Given the description of an element on the screen output the (x, y) to click on. 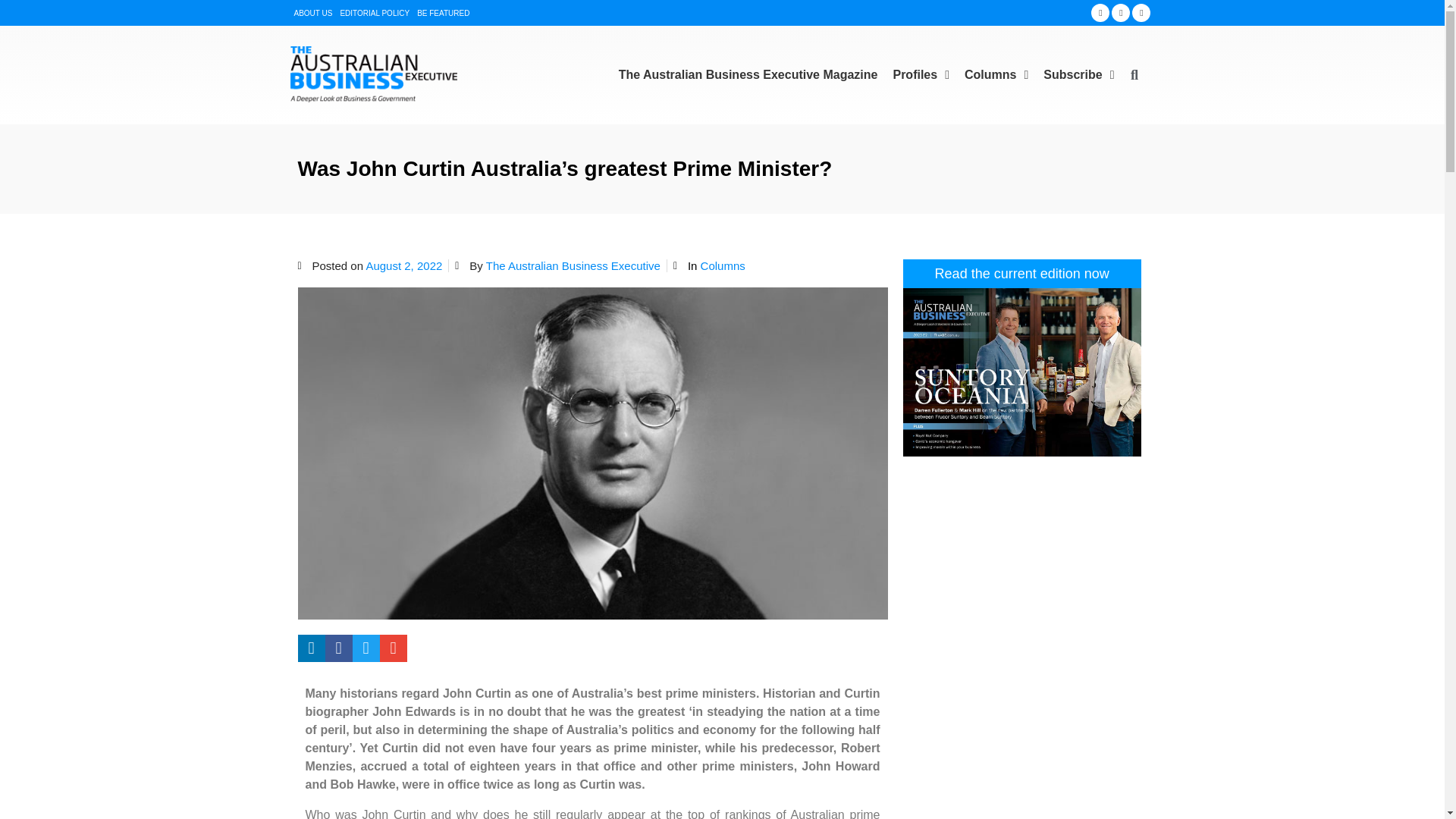
Profiles (920, 74)
BE FEATURED (442, 13)
ABOUT US (313, 13)
EDITORIAL POLICY (374, 13)
Columns (995, 74)
The Australian Business Executive Magazine (748, 74)
